Given the description of an element on the screen output the (x, y) to click on. 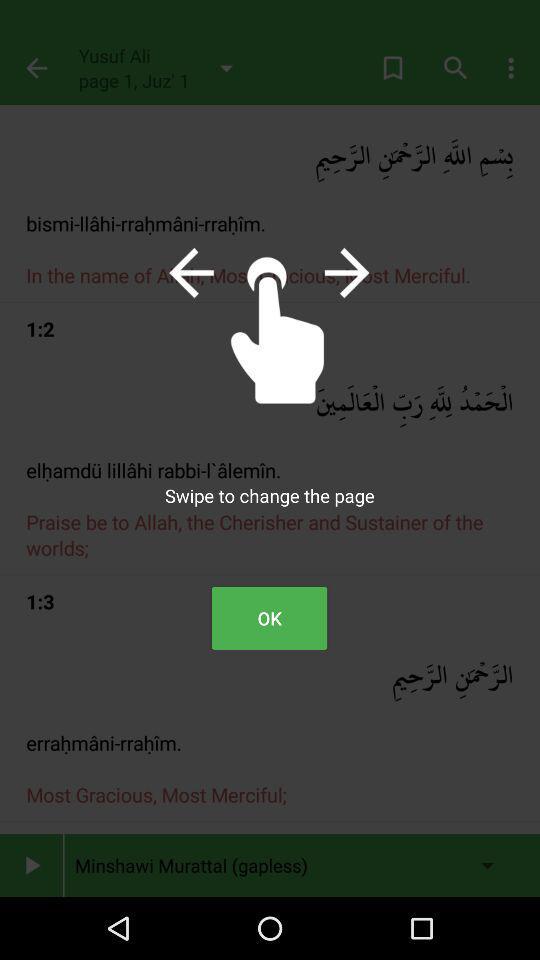
click ok (269, 617)
